Given the description of an element on the screen output the (x, y) to click on. 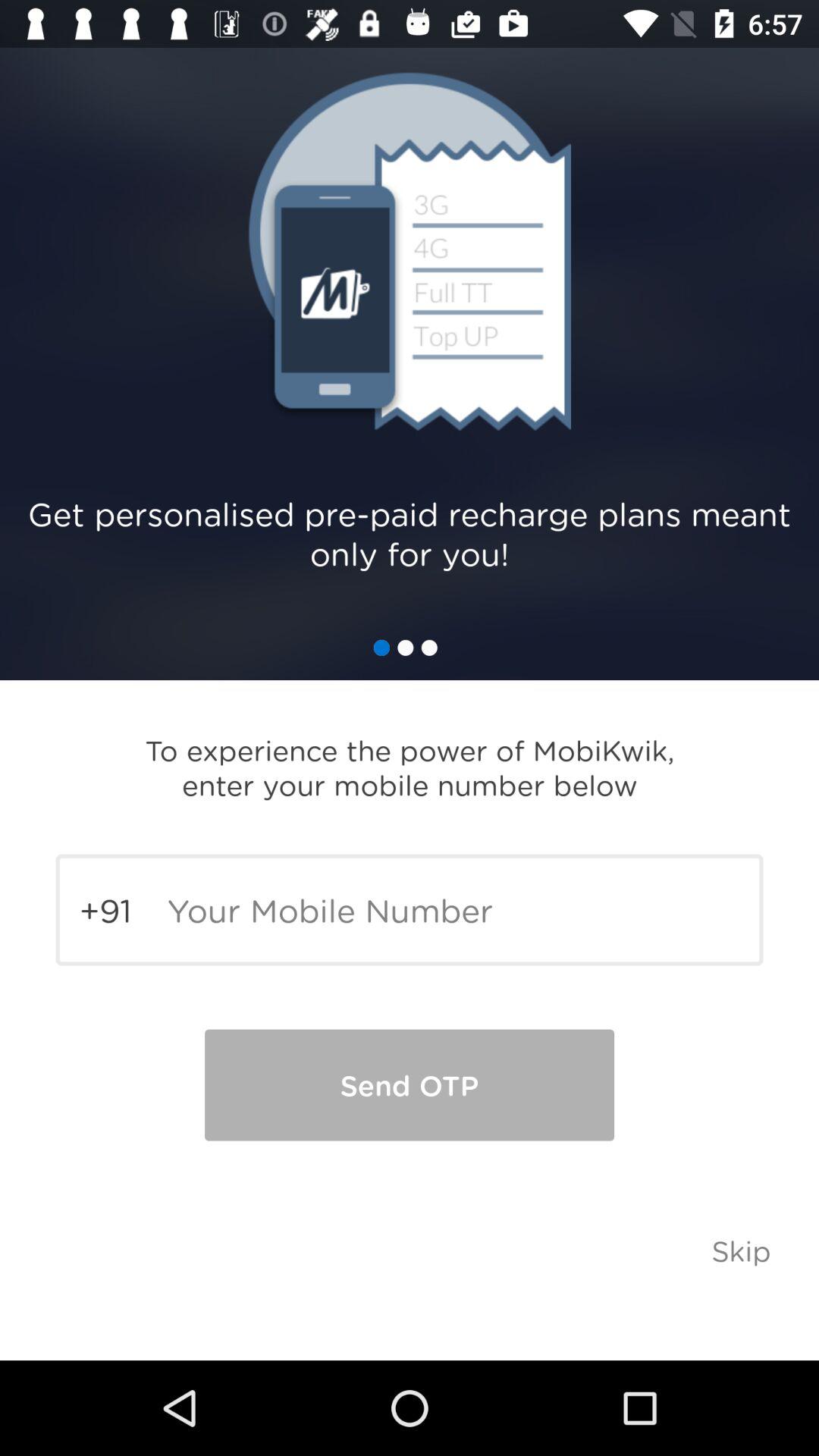
launch icon below the to experience the item (409, 909)
